Given the description of an element on the screen output the (x, y) to click on. 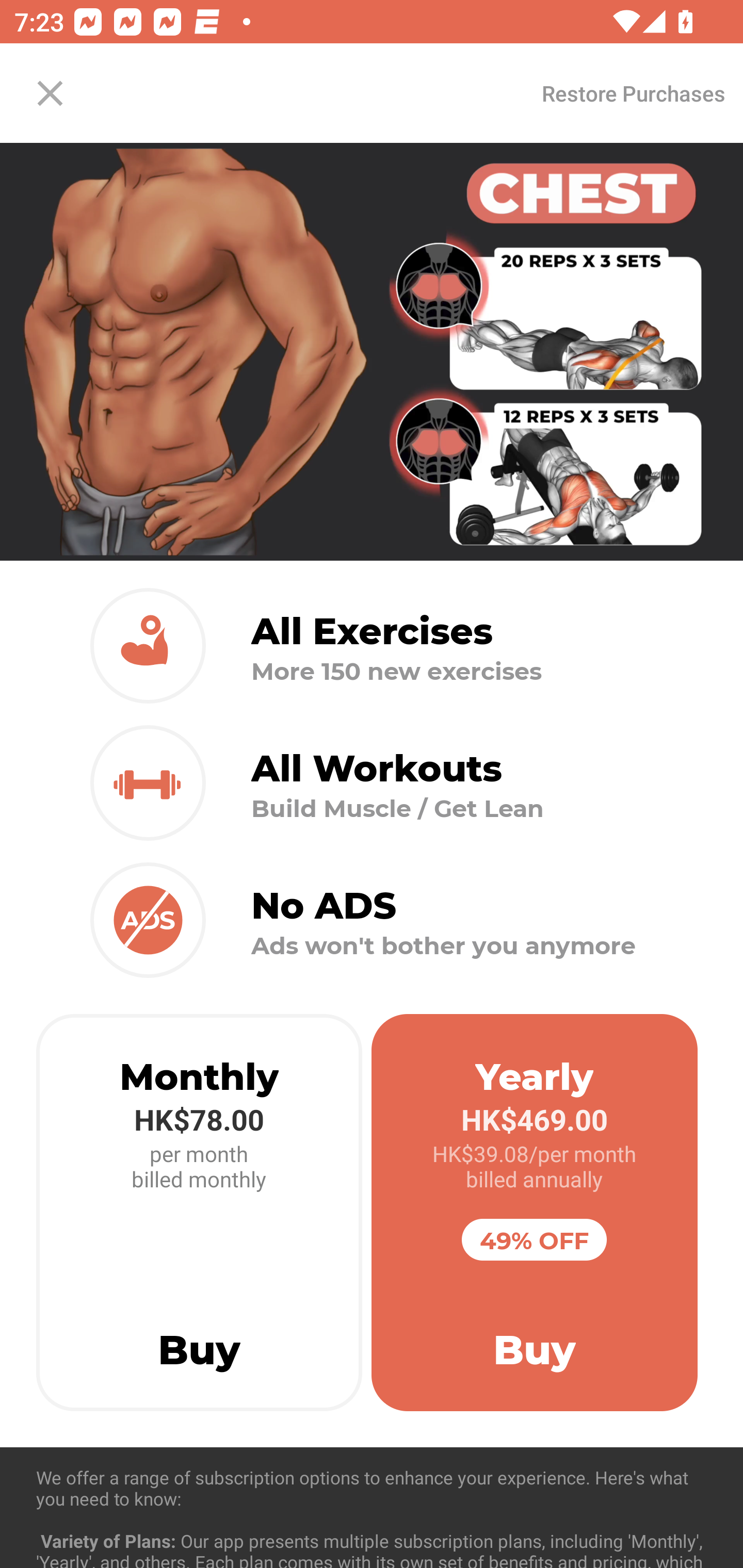
Restore Purchases (632, 92)
Monthly HK$78.00 per month
billed monthly Buy (199, 1212)
